Given the description of an element on the screen output the (x, y) to click on. 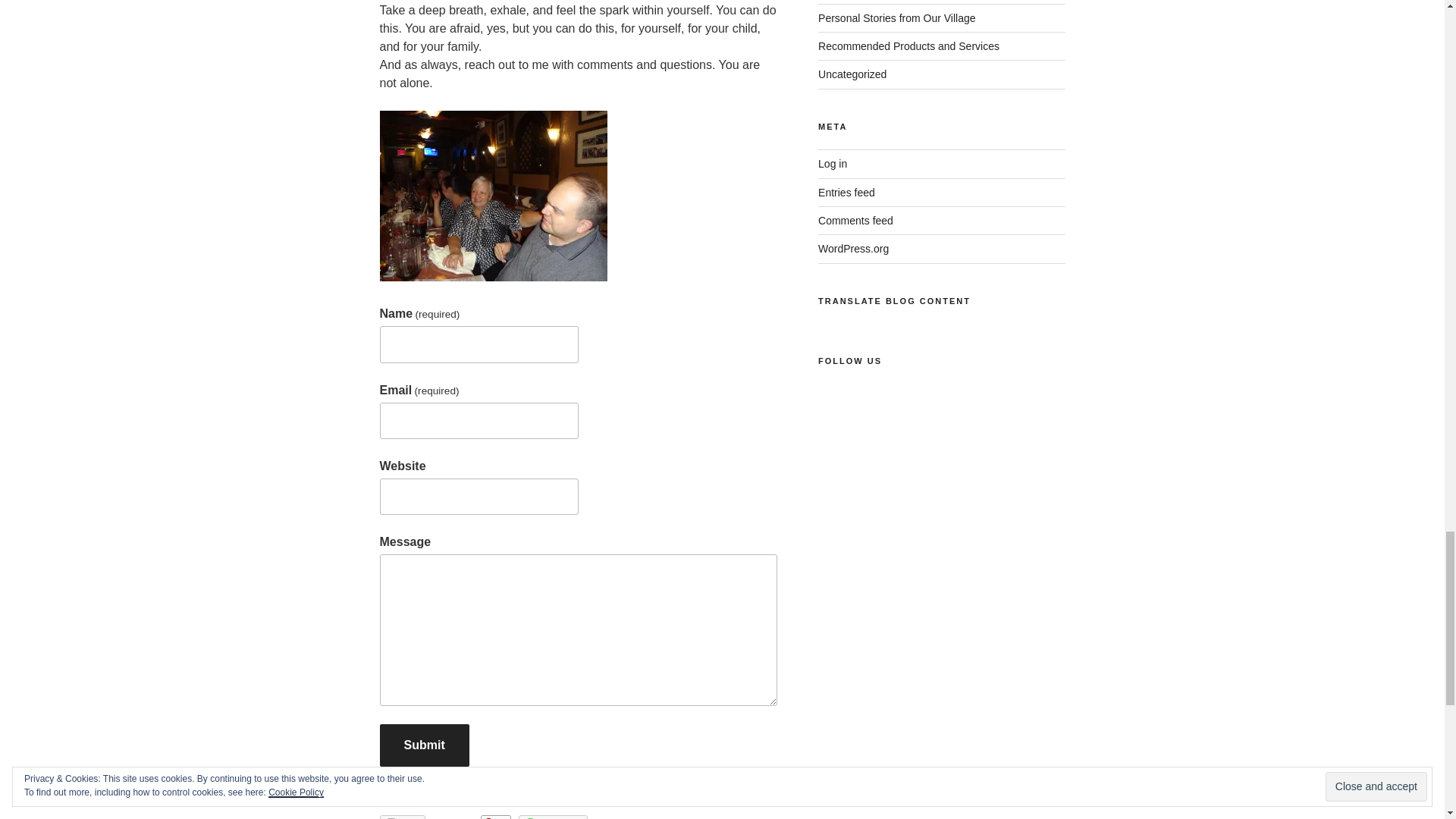
Click to print (401, 816)
Submit (423, 744)
WhatsApp (553, 816)
Print (401, 816)
Click to share on WhatsApp (553, 816)
